Given the description of an element on the screen output the (x, y) to click on. 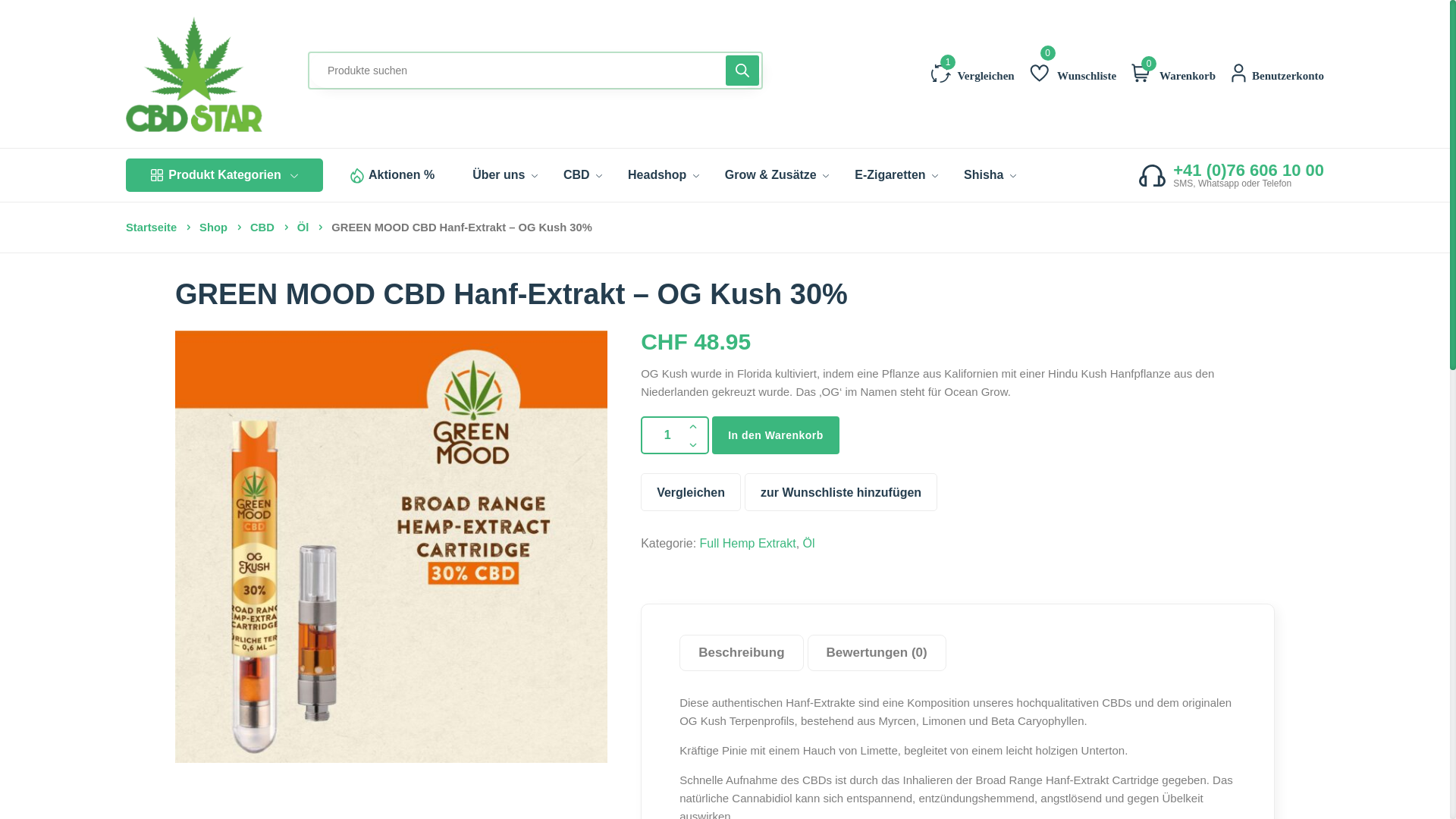
Shop Element type: text (218, 227)
Aktionen % Element type: text (401, 175)
Beschreibung Element type: text (741, 652)
CBD Element type: text (267, 227)
Wunschliste Element type: text (1072, 71)
Benutzerkonto Element type: text (1288, 71)
In den Warenkorb Element type: text (775, 435)
OGKUSH30% Element type: hover (391, 546)
Startseite Element type: text (156, 227)
E-Zigaretten Element type: text (896, 174)
0 Element type: text (1142, 71)
Headshop Element type: text (663, 174)
Vergleichen Element type: text (972, 71)
Produkt Kategorien Element type: text (224, 174)
Bewertungen (0) Element type: text (876, 652)
Full Hemp Extrakt Element type: text (747, 543)
Vergleichen Element type: text (690, 492)
CBD Element type: text (582, 174)
+41 (0)76 606 10 00 Element type: text (1248, 170)
Warenkorb Element type: text (1184, 71)
Shisha Element type: text (989, 174)
